Given the description of an element on the screen output the (x, y) to click on. 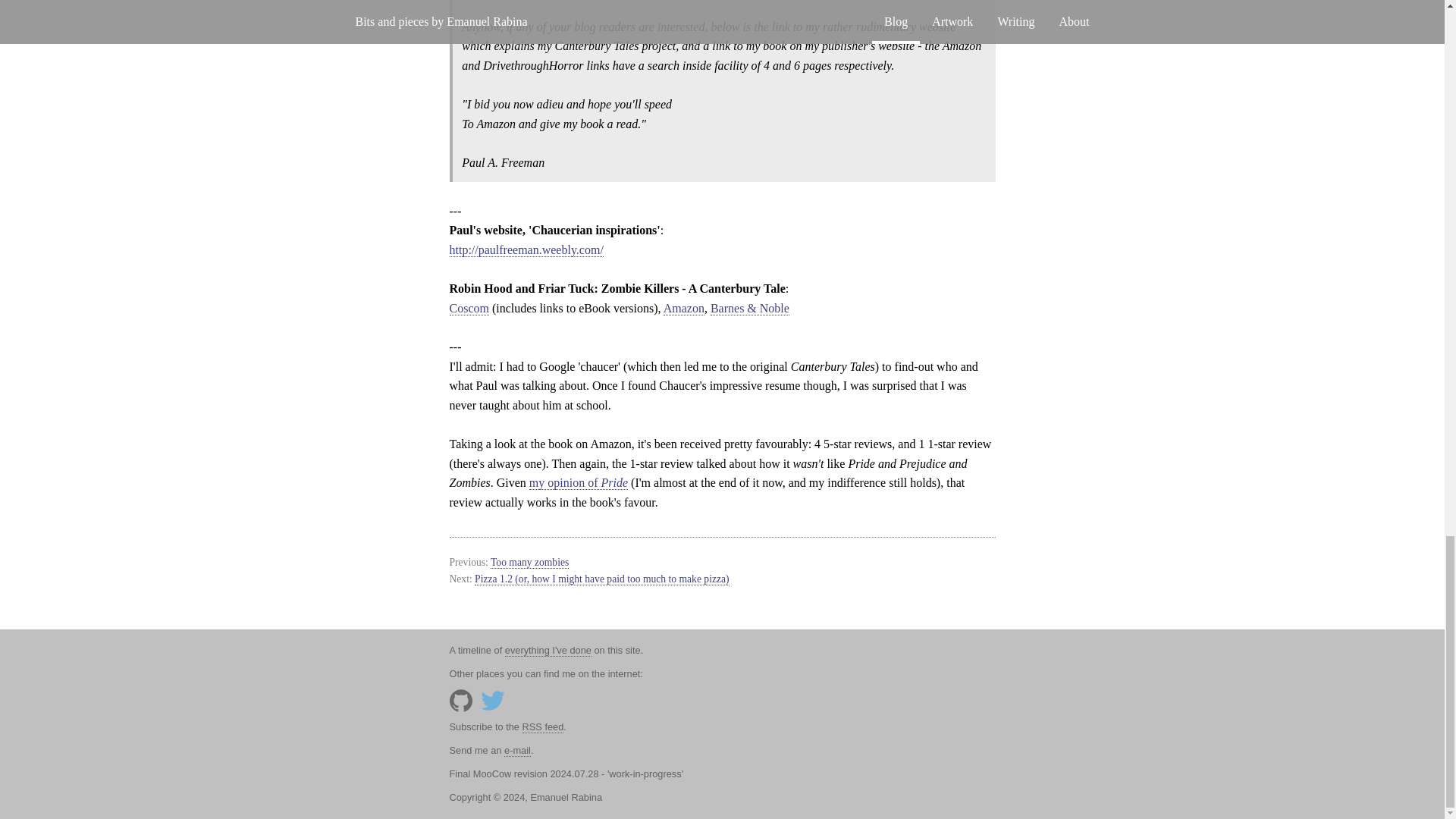
Amazon (683, 308)
my opinion of Pride (578, 482)
Coscom (467, 308)
e-mail (517, 750)
everything I've done (548, 650)
RSS feed (543, 727)
Too many zombies (529, 562)
